Given the description of an element on the screen output the (x, y) to click on. 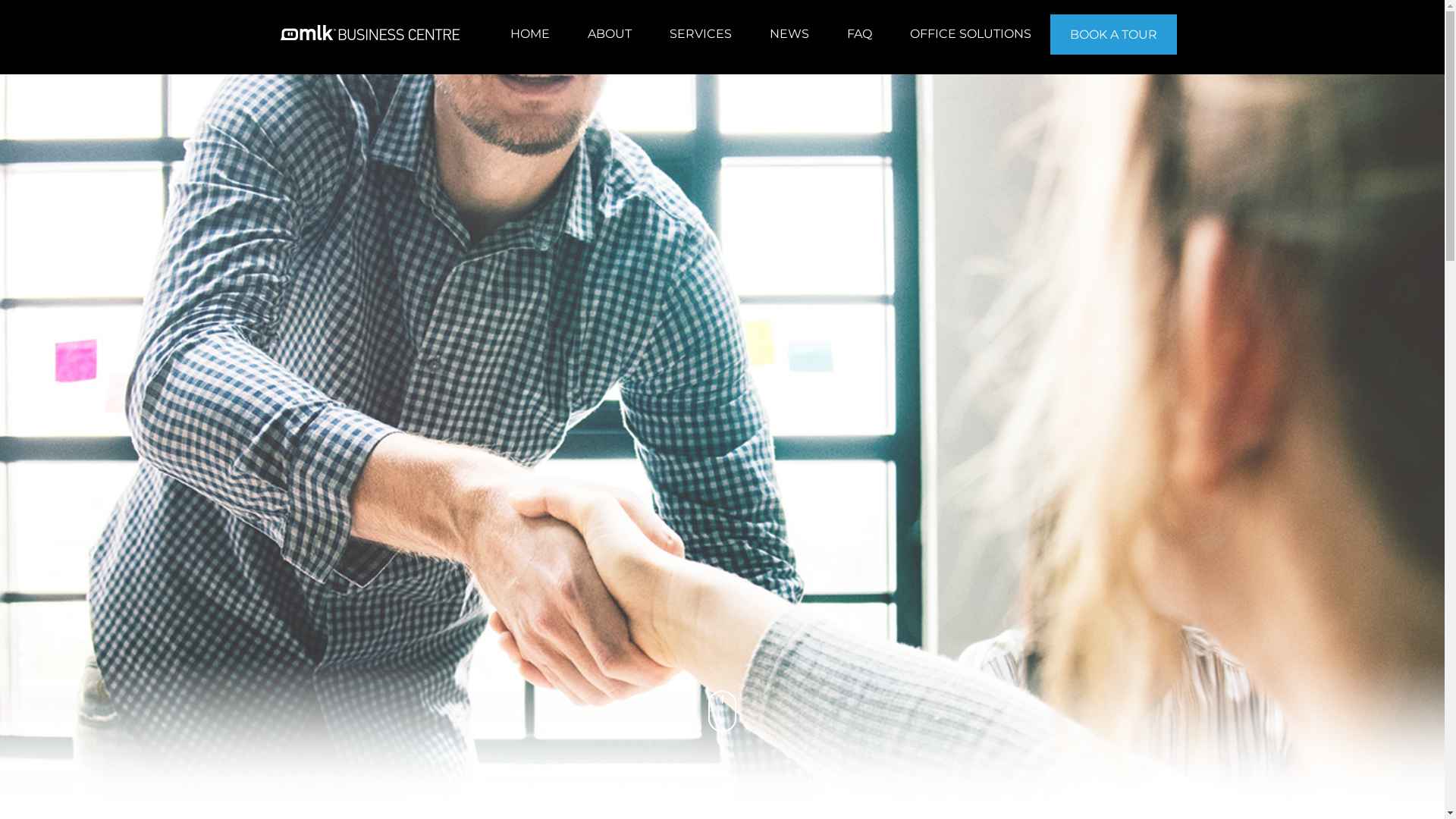
ABOUT Element type: text (609, 33)
HOME Element type: text (529, 33)
SERVICES Element type: text (700, 33)
FAQ Element type: text (859, 33)
BOOK A TOUR Element type: text (1112, 34)
OFFICE SOLUTIONS Element type: text (969, 33)
NEWS Element type: text (789, 33)
